Given the description of an element on the screen output the (x, y) to click on. 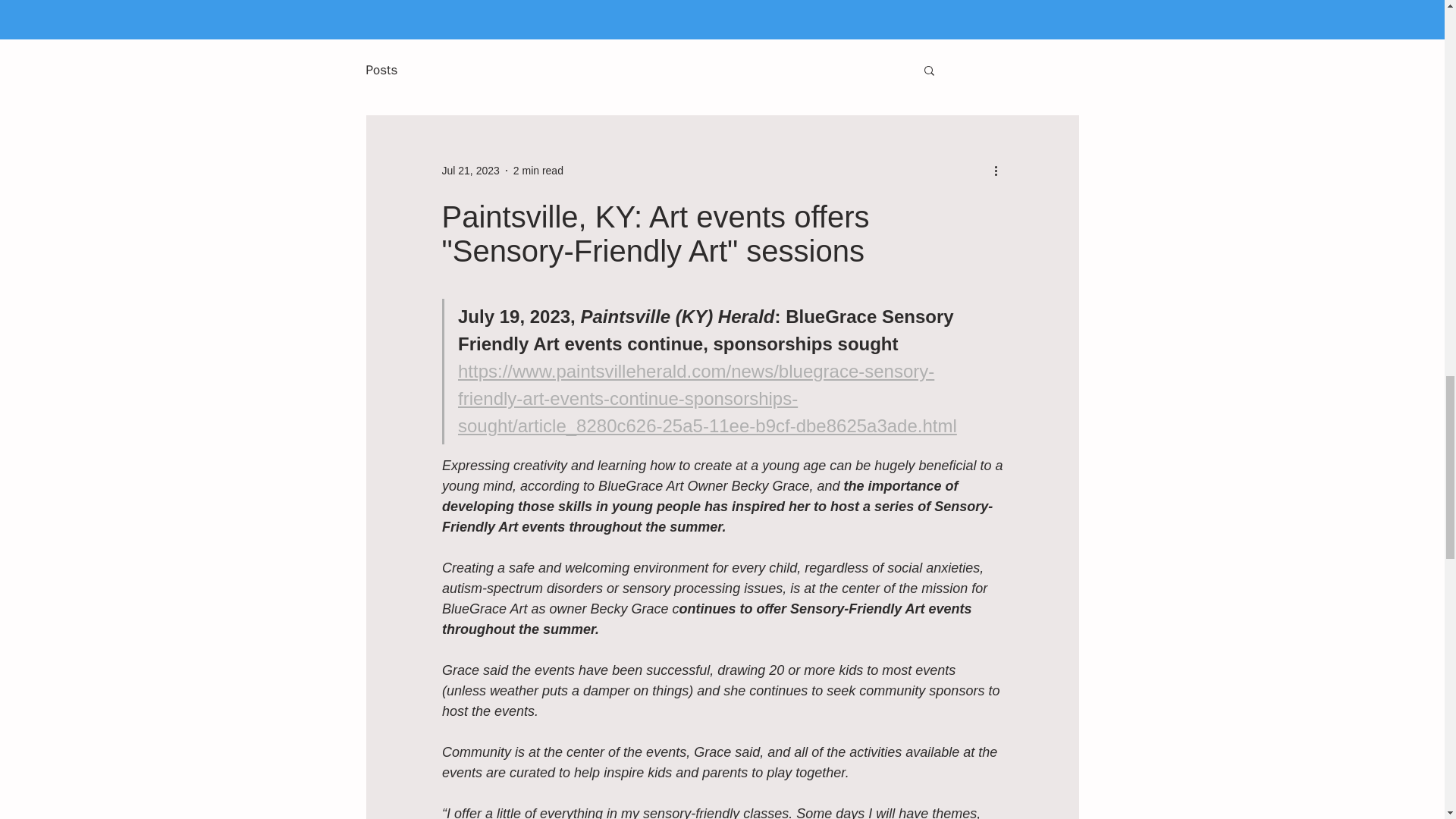
Jul 21, 2023 (470, 169)
2 min read (538, 169)
Posts (381, 68)
